Given the description of an element on the screen output the (x, y) to click on. 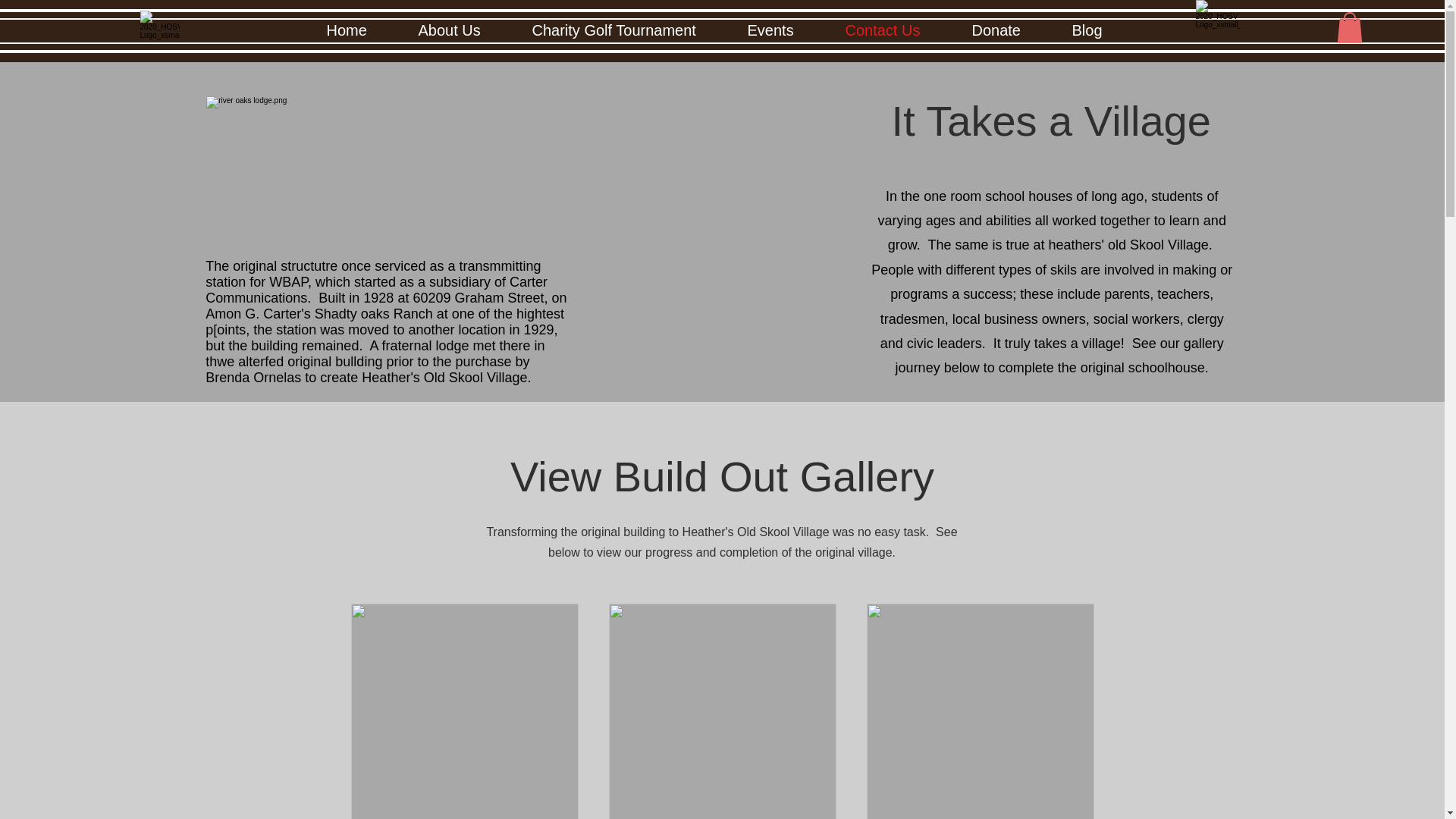
About Us (458, 30)
Donate (1005, 30)
Events (779, 30)
Contact Us (892, 30)
Blog (1096, 30)
Home (357, 30)
